Given the description of an element on the screen output the (x, y) to click on. 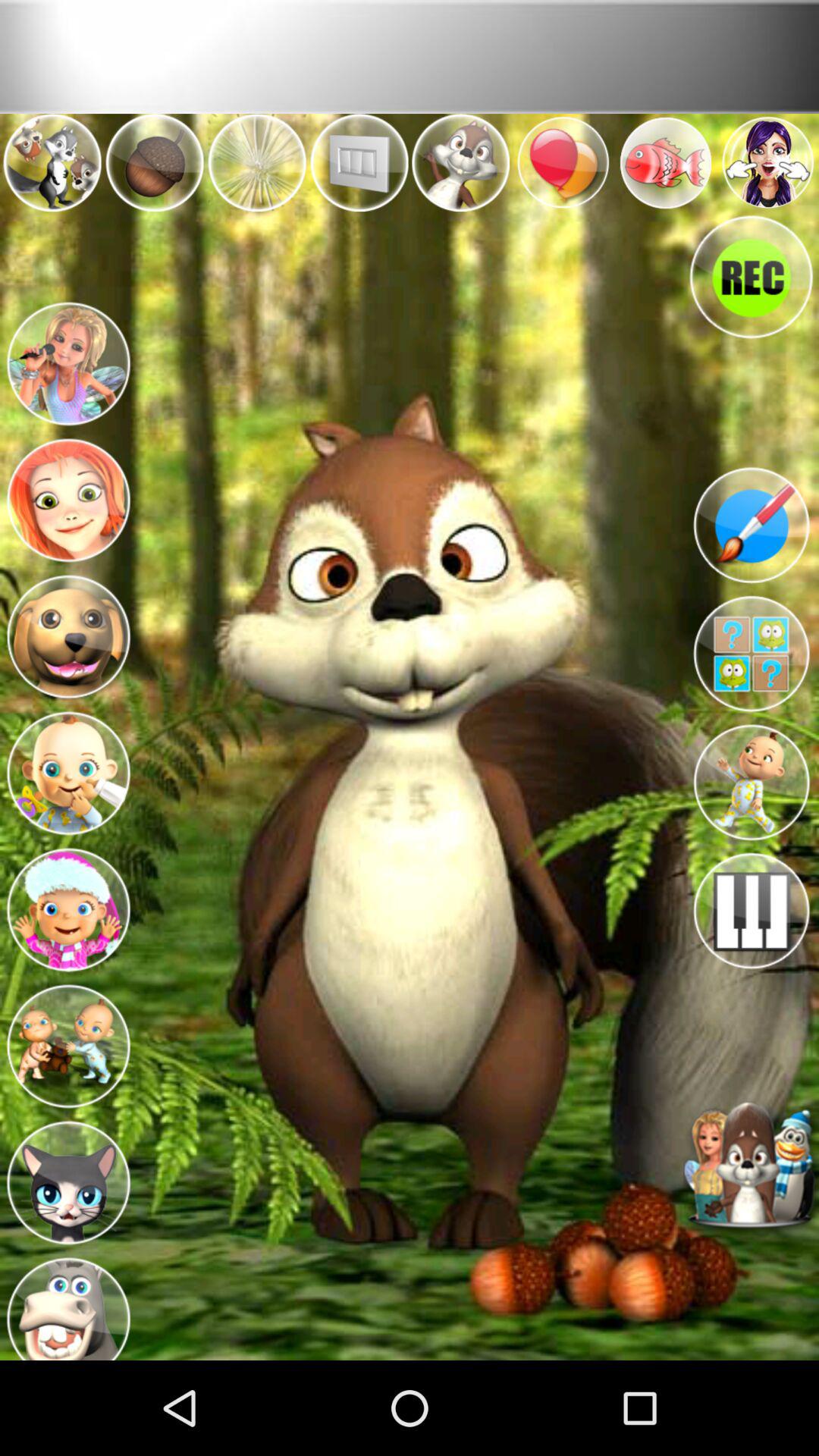
hippo (68, 1303)
